Given the description of an element on the screen output the (x, y) to click on. 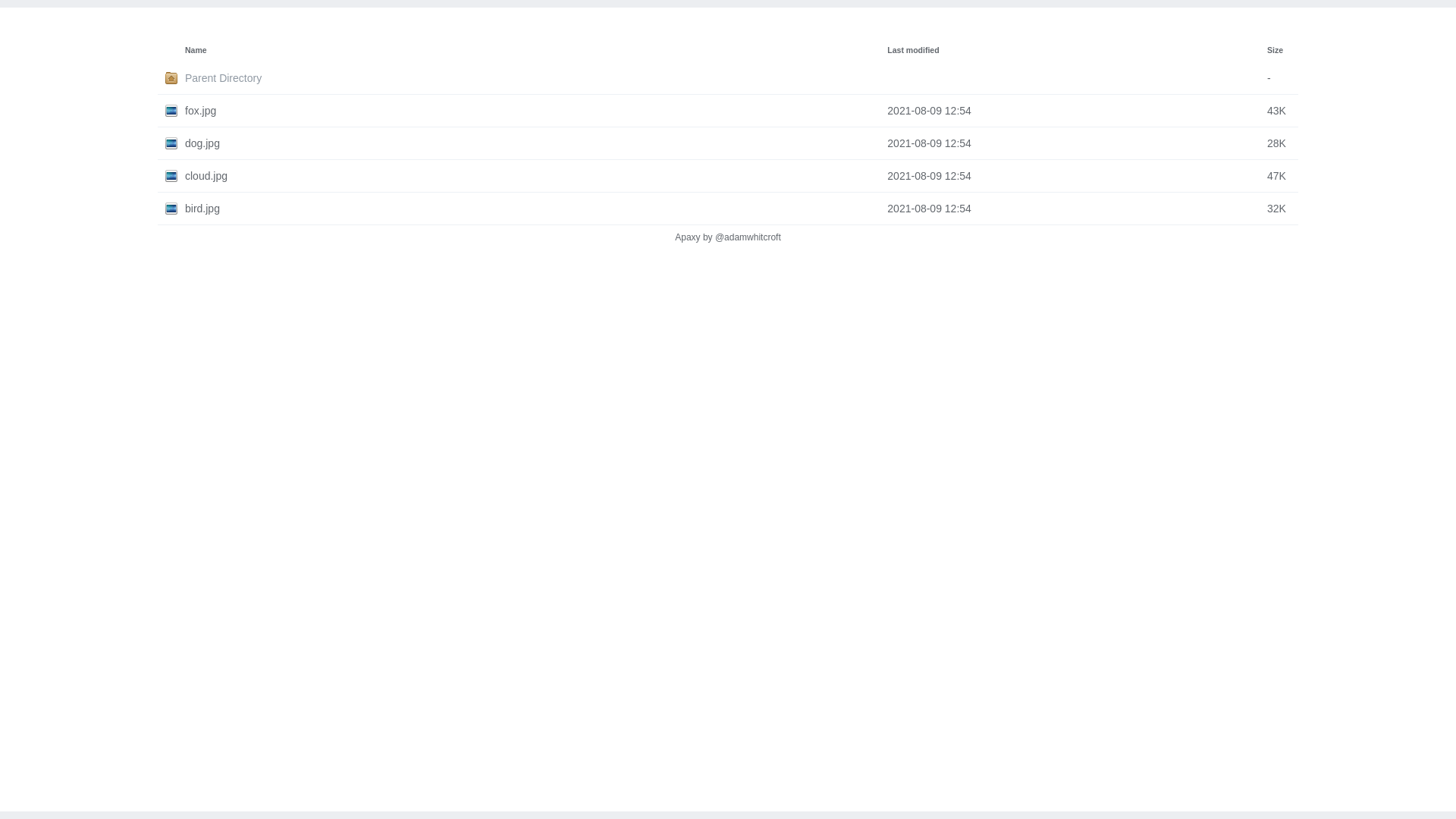
Size Element type: text (1275, 49)
Parent Directory Element type: text (536, 77)
bird.jpg Element type: text (536, 208)
cloud.jpg Element type: text (536, 175)
dog.jpg Element type: text (536, 143)
fox.jpg Element type: text (536, 110)
@adamwhitcroft Element type: text (748, 237)
Last modified Element type: text (912, 49)
Name Element type: text (196, 49)
